Given the description of an element on the screen output the (x, y) to click on. 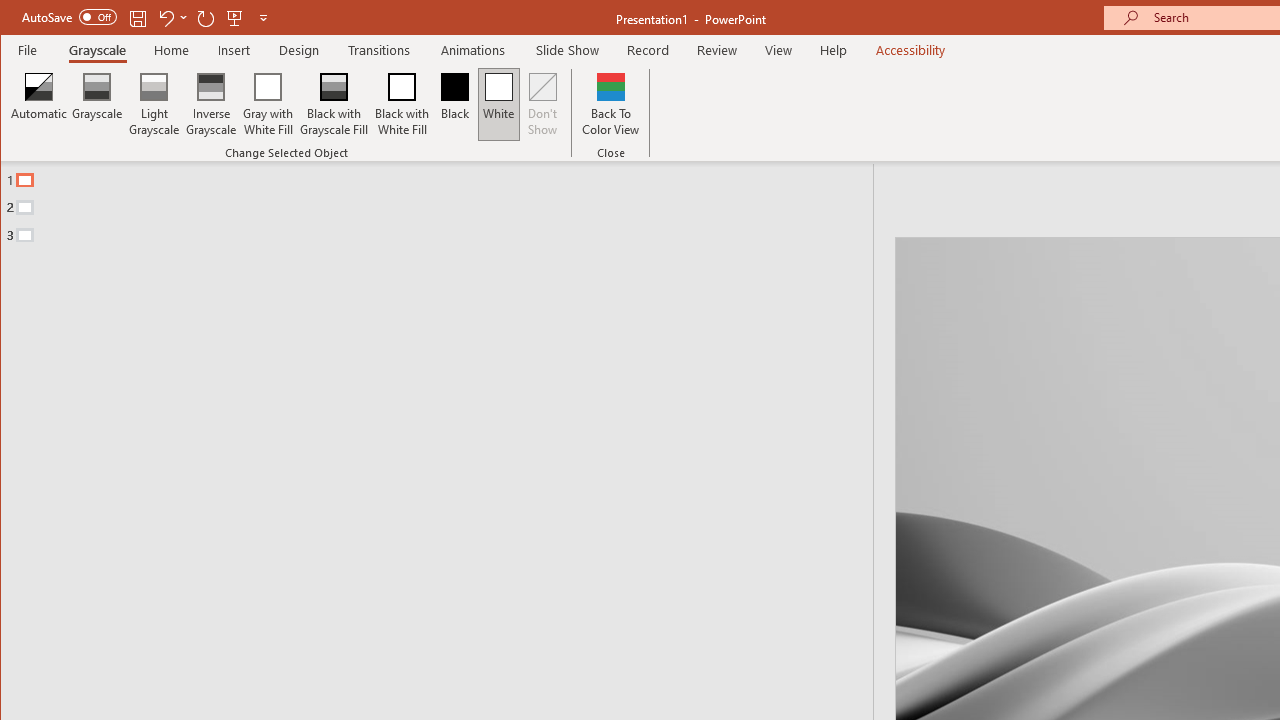
From Beginning (235, 17)
Black with White Fill (402, 104)
Redo (206, 17)
Grayscale (97, 50)
